Given the description of an element on the screen output the (x, y) to click on. 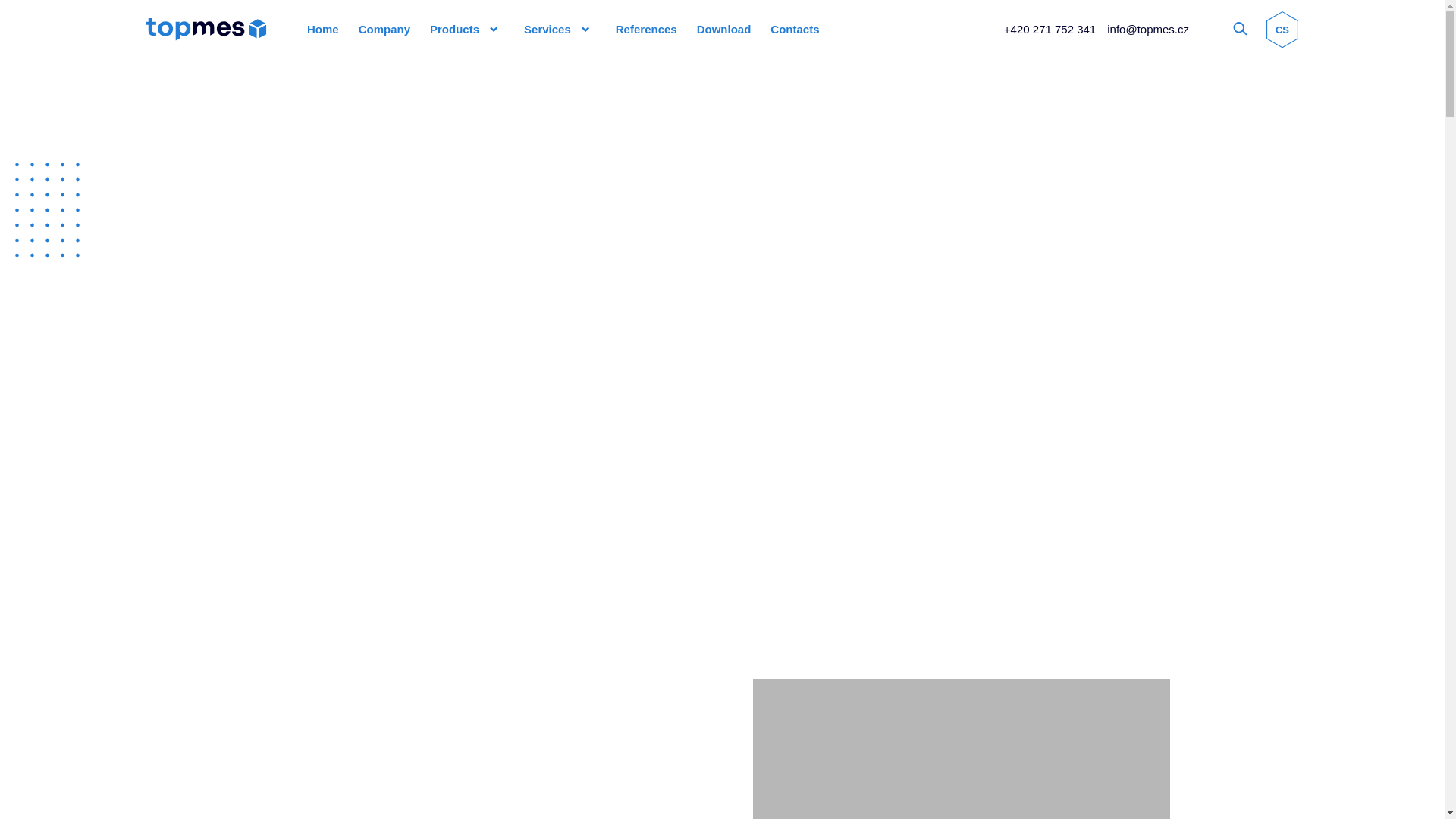
Products (454, 29)
CS (1281, 29)
Home (321, 29)
Services (547, 29)
Company (383, 29)
